Given the description of an element on the screen output the (x, y) to click on. 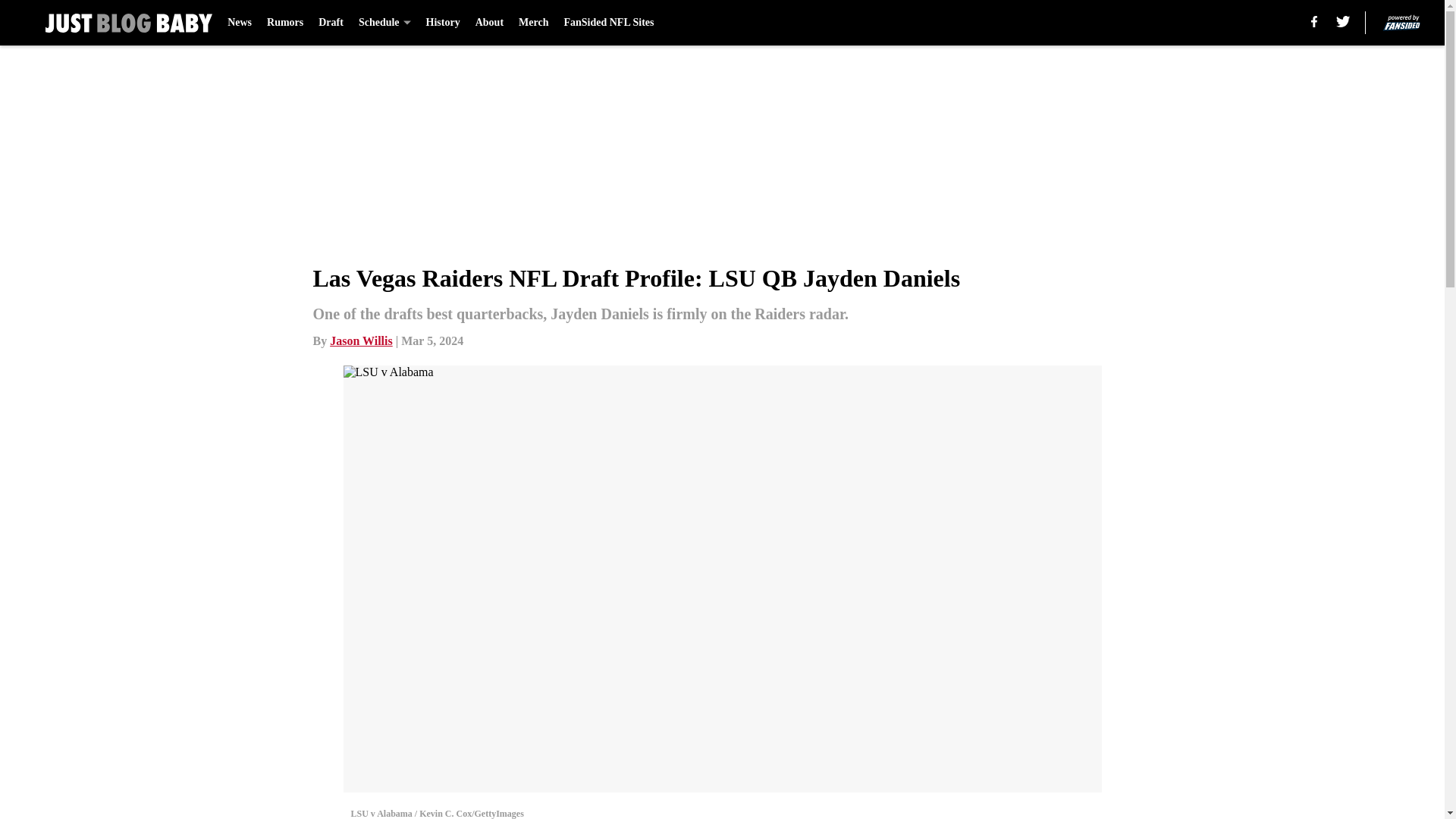
Rumors (284, 22)
About (489, 22)
FanSided NFL Sites (608, 22)
Merch (533, 22)
History (443, 22)
Draft (330, 22)
News (239, 22)
Jason Willis (361, 340)
